Given the description of an element on the screen output the (x, y) to click on. 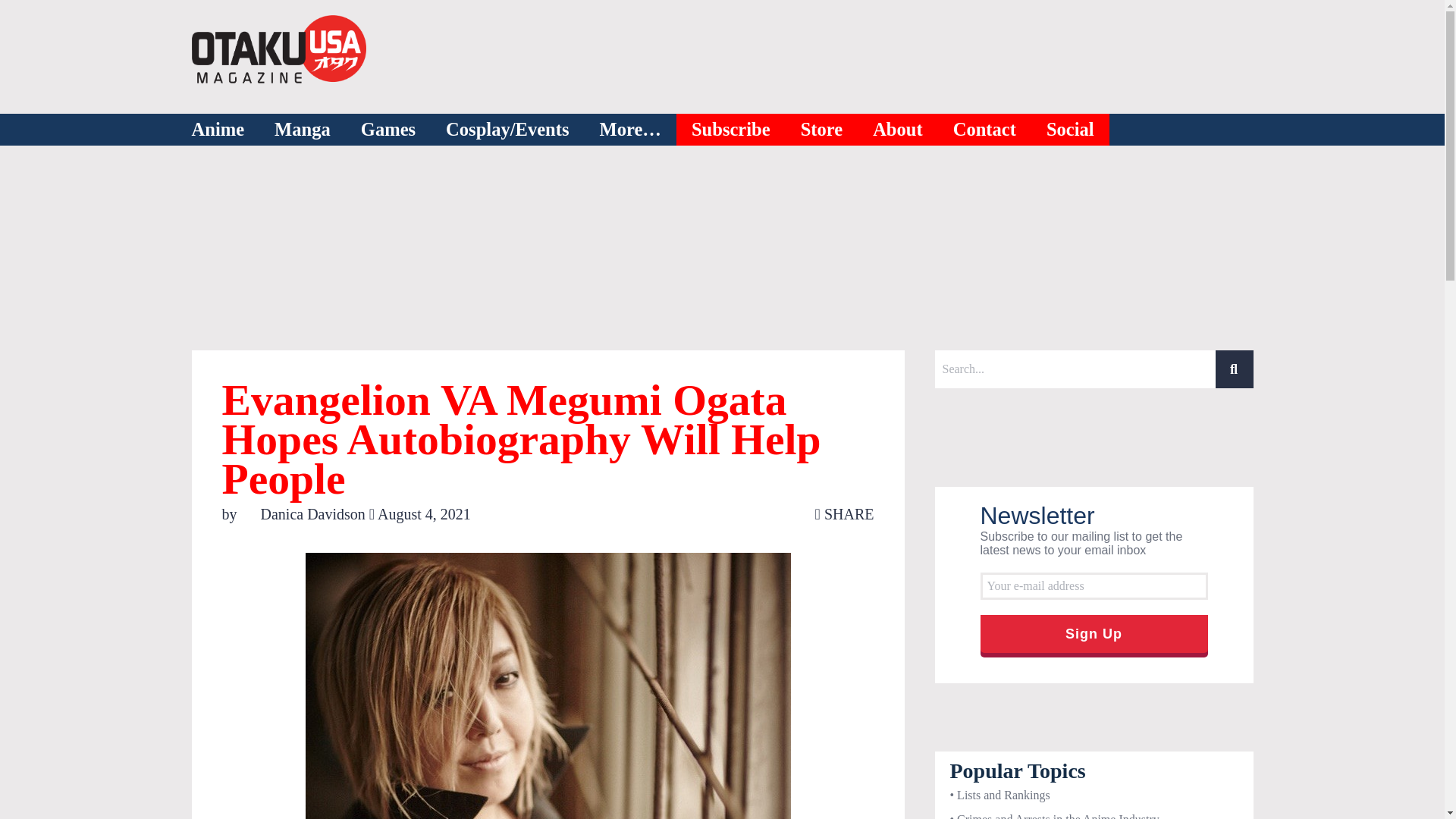
Danica Davidson (304, 514)
Store (821, 129)
Games (387, 129)
Anime (217, 129)
Subscribe (730, 129)
Contact (984, 129)
SHARE (845, 514)
About (897, 129)
Sign Up (1093, 633)
Social (1070, 129)
Manga (302, 129)
